Given the description of an element on the screen output the (x, y) to click on. 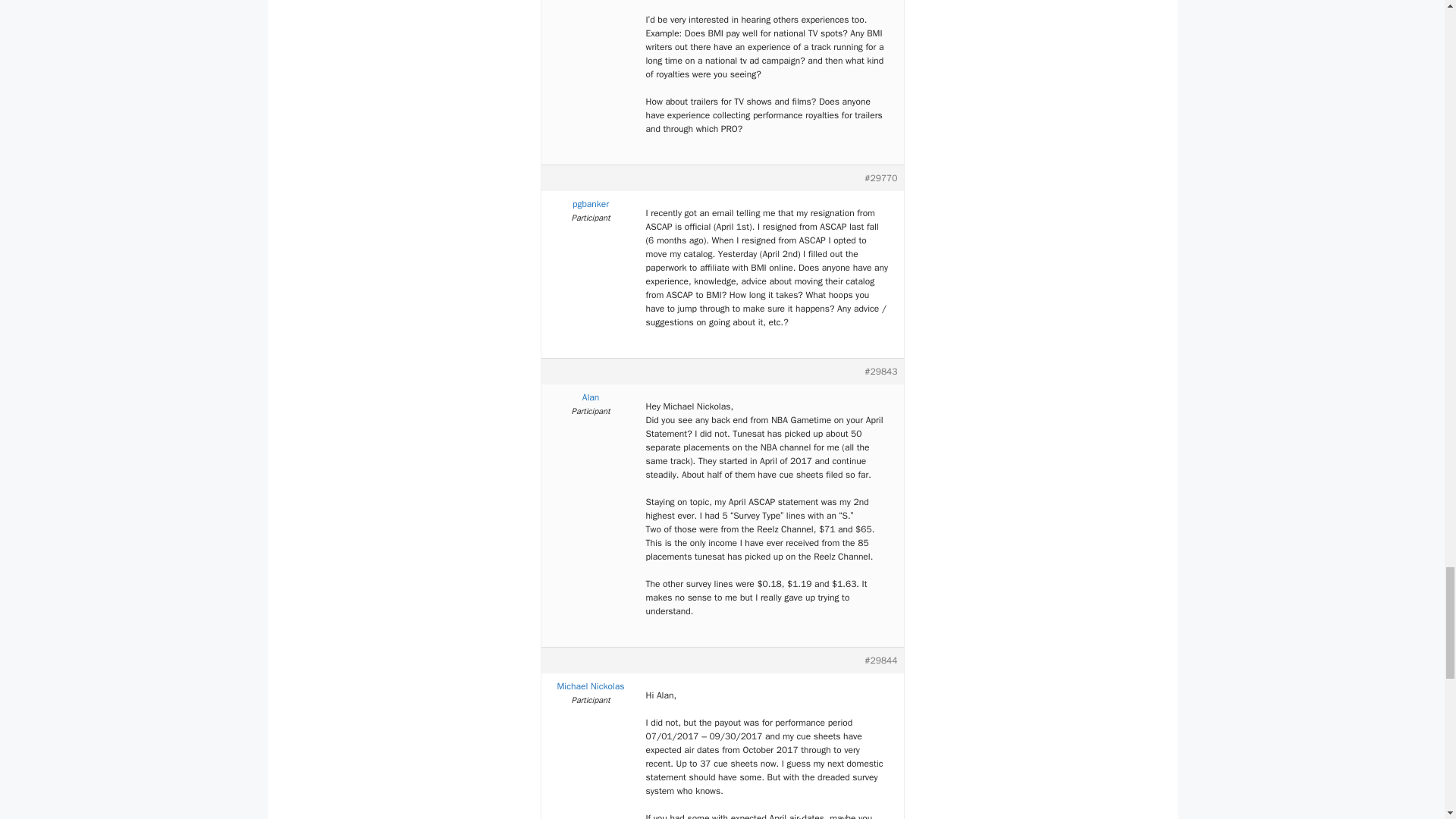
View pgbanker's profile (590, 203)
